Given the description of an element on the screen output the (x, y) to click on. 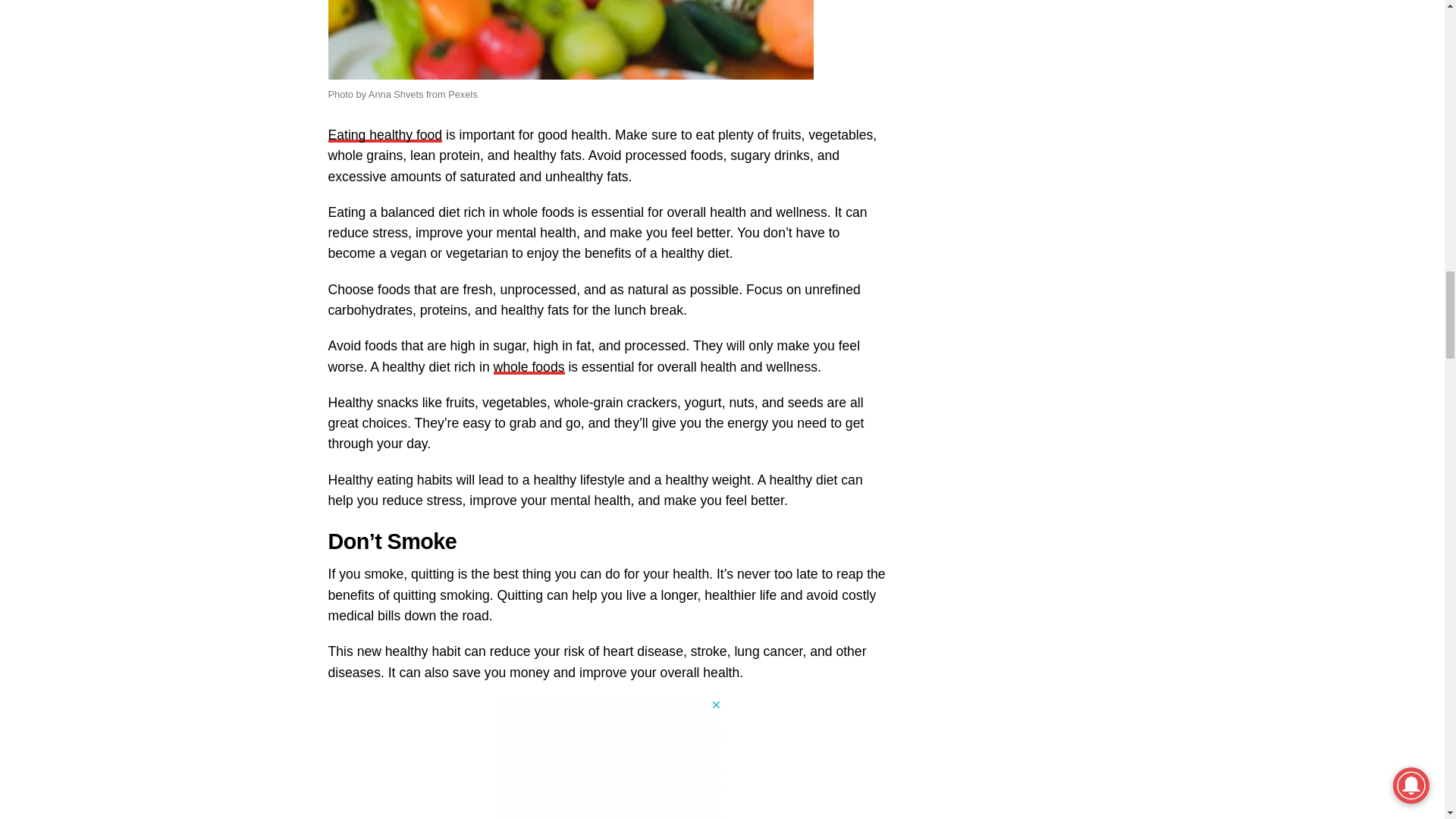
3rd party ad content (608, 758)
